Given the description of an element on the screen output the (x, y) to click on. 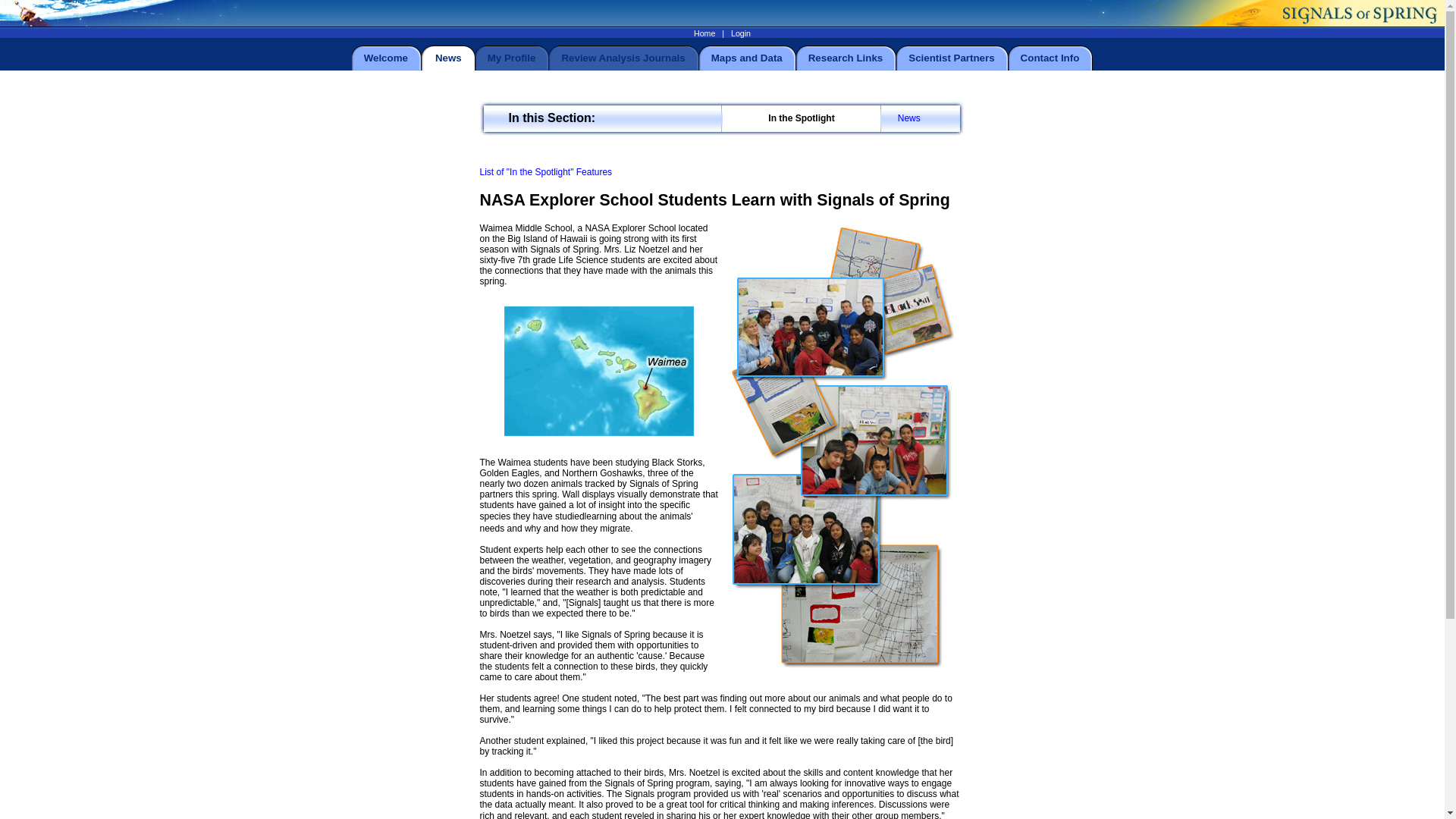
Welcome (385, 57)
Login (740, 32)
Research Links (845, 57)
Home (704, 32)
Maps and Data (747, 57)
News (909, 118)
Scientist Partners (951, 57)
My Profile (511, 57)
Contact Info (1050, 57)
Review Analysis Journals (622, 57)
List of "In the Spotlight" Features (545, 172)
